Given the description of an element on the screen output the (x, y) to click on. 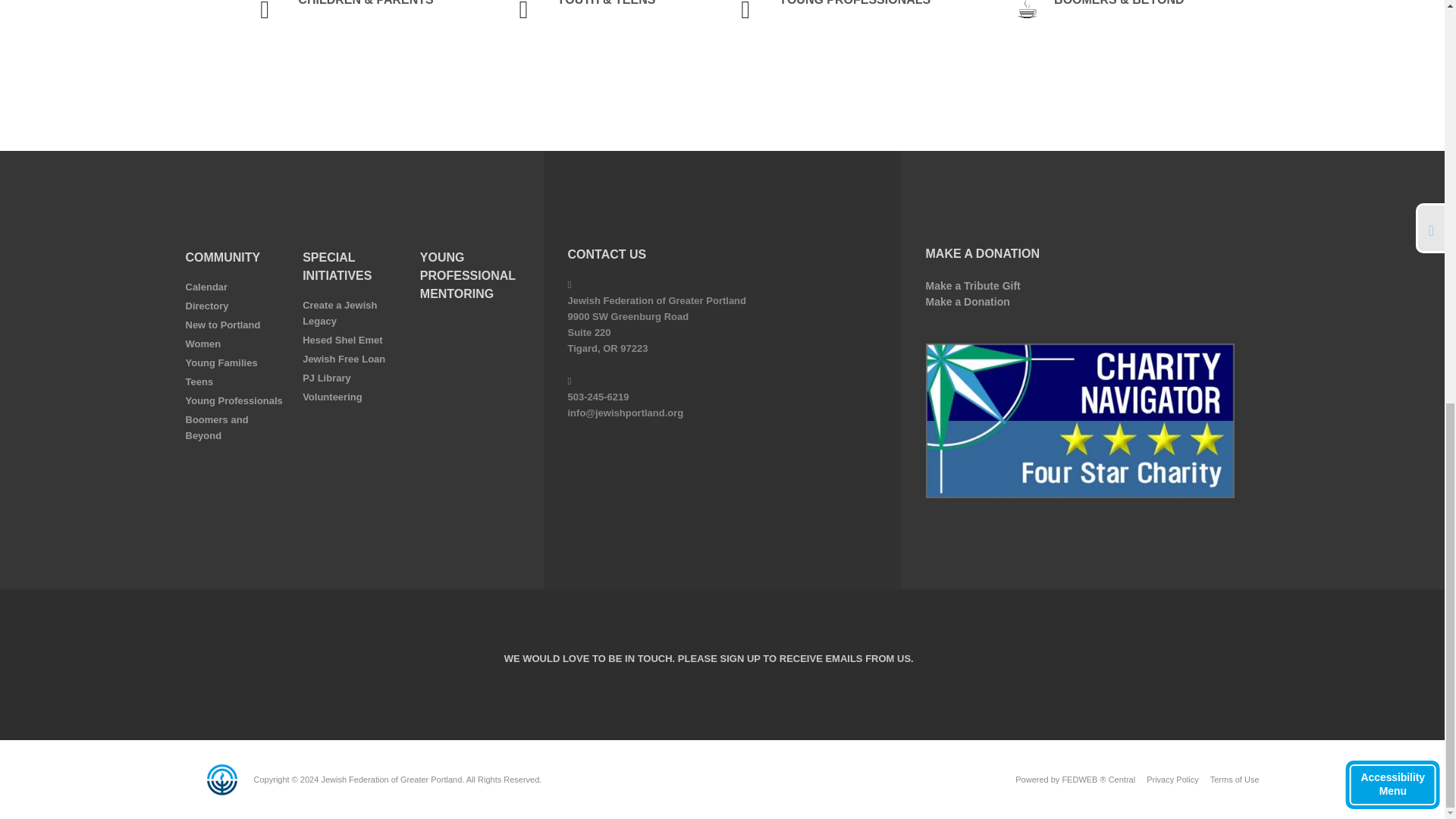
Accessibility Menu (1392, 7)
